Given the description of an element on the screen output the (x, y) to click on. 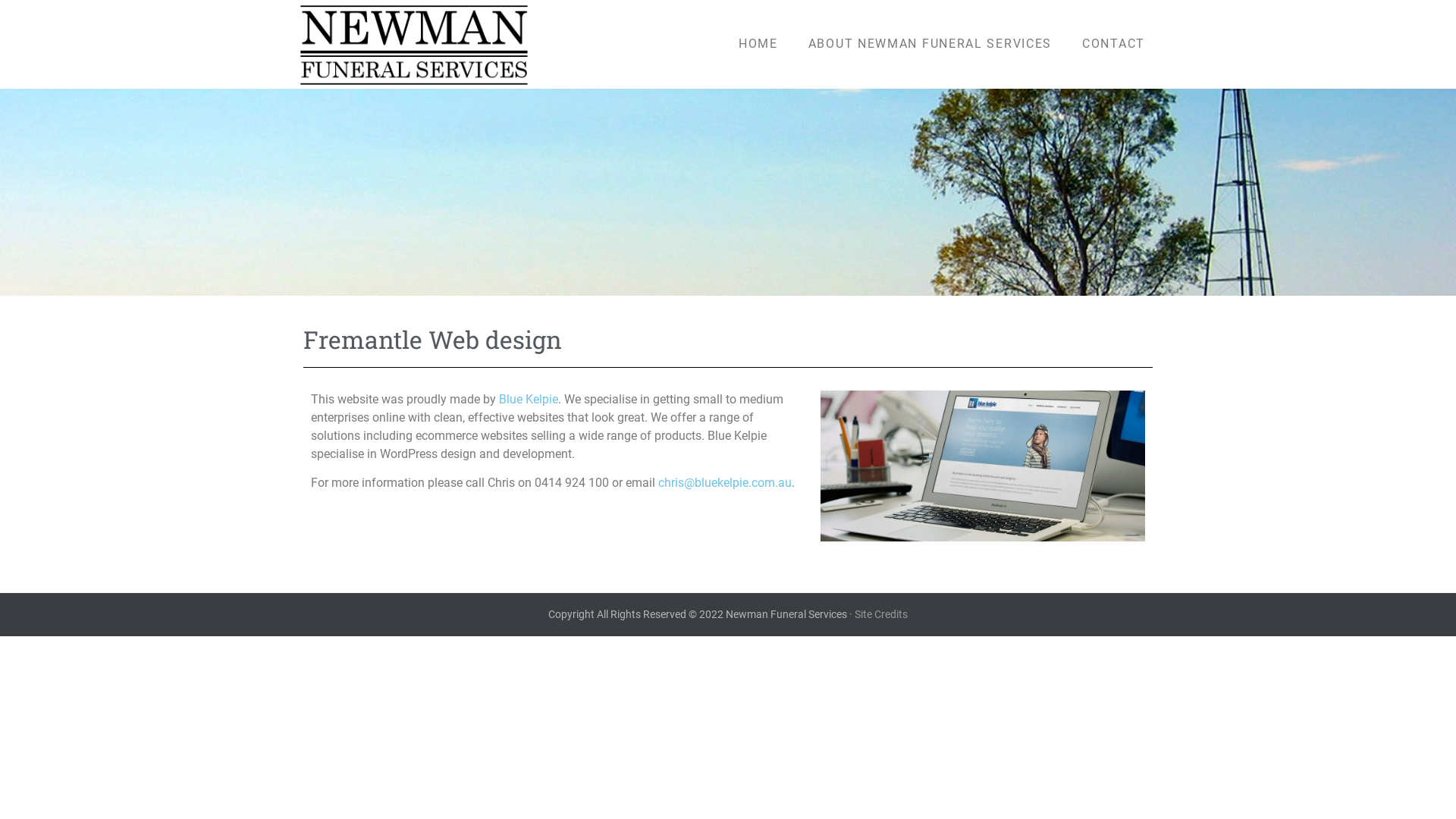
chris@bluekelpie.com.au Element type: text (724, 482)
CONTACT Element type: text (1113, 43)
HOME Element type: text (758, 43)
Blue Kelpie Element type: text (528, 399)
Site Credits Element type: text (880, 614)
ABOUT NEWMAN FUNERAL SERVICES Element type: text (929, 43)
